Given the description of an element on the screen output the (x, y) to click on. 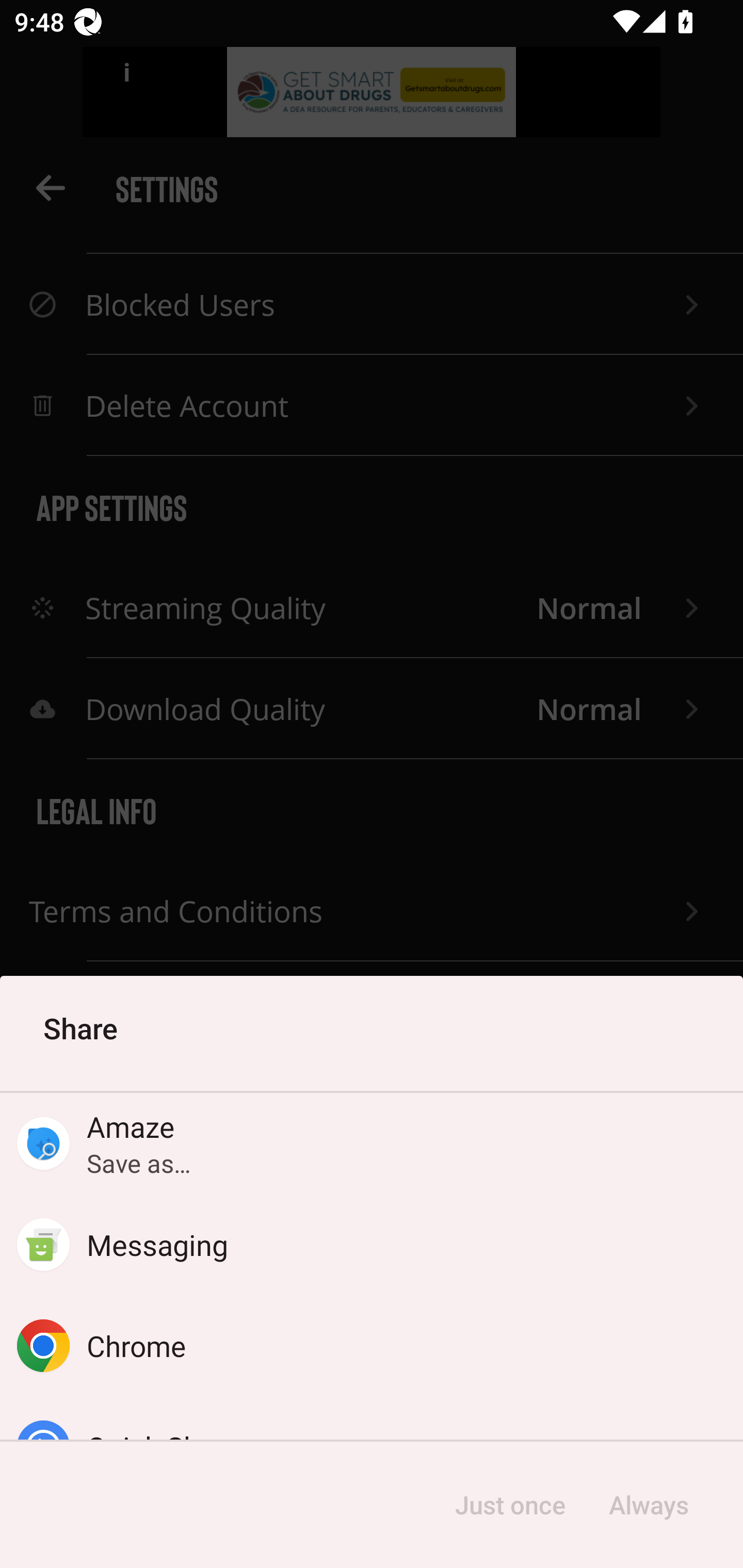
Amaze Save as… (371, 1143)
Messaging (371, 1244)
Chrome (371, 1345)
Just once (509, 1504)
Always (648, 1504)
